Given the description of an element on the screen output the (x, y) to click on. 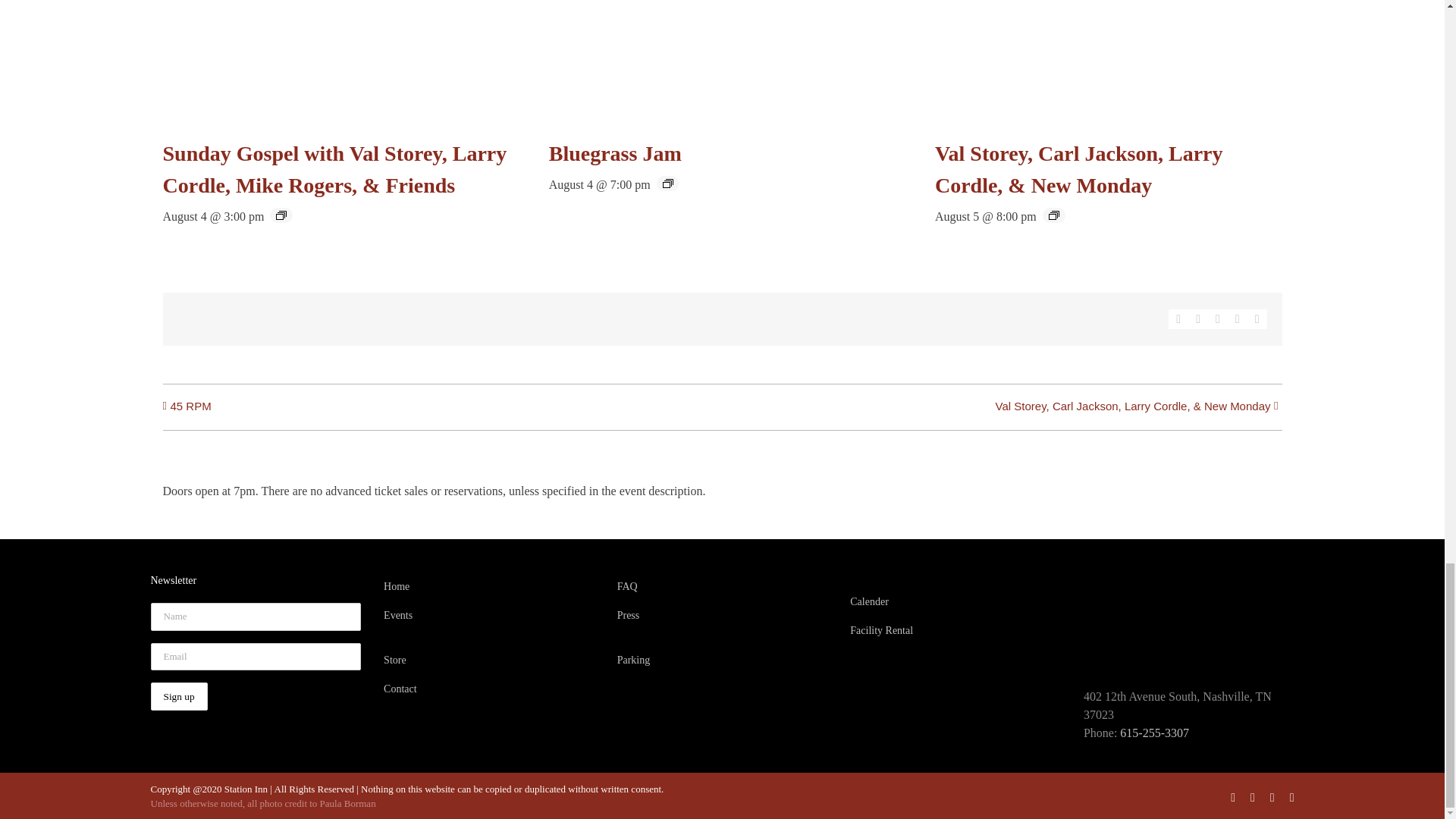
Event Series (1053, 215)
Event Series (281, 215)
Sign up (177, 696)
Event Series (667, 183)
